Given the description of an element on the screen output the (x, y) to click on. 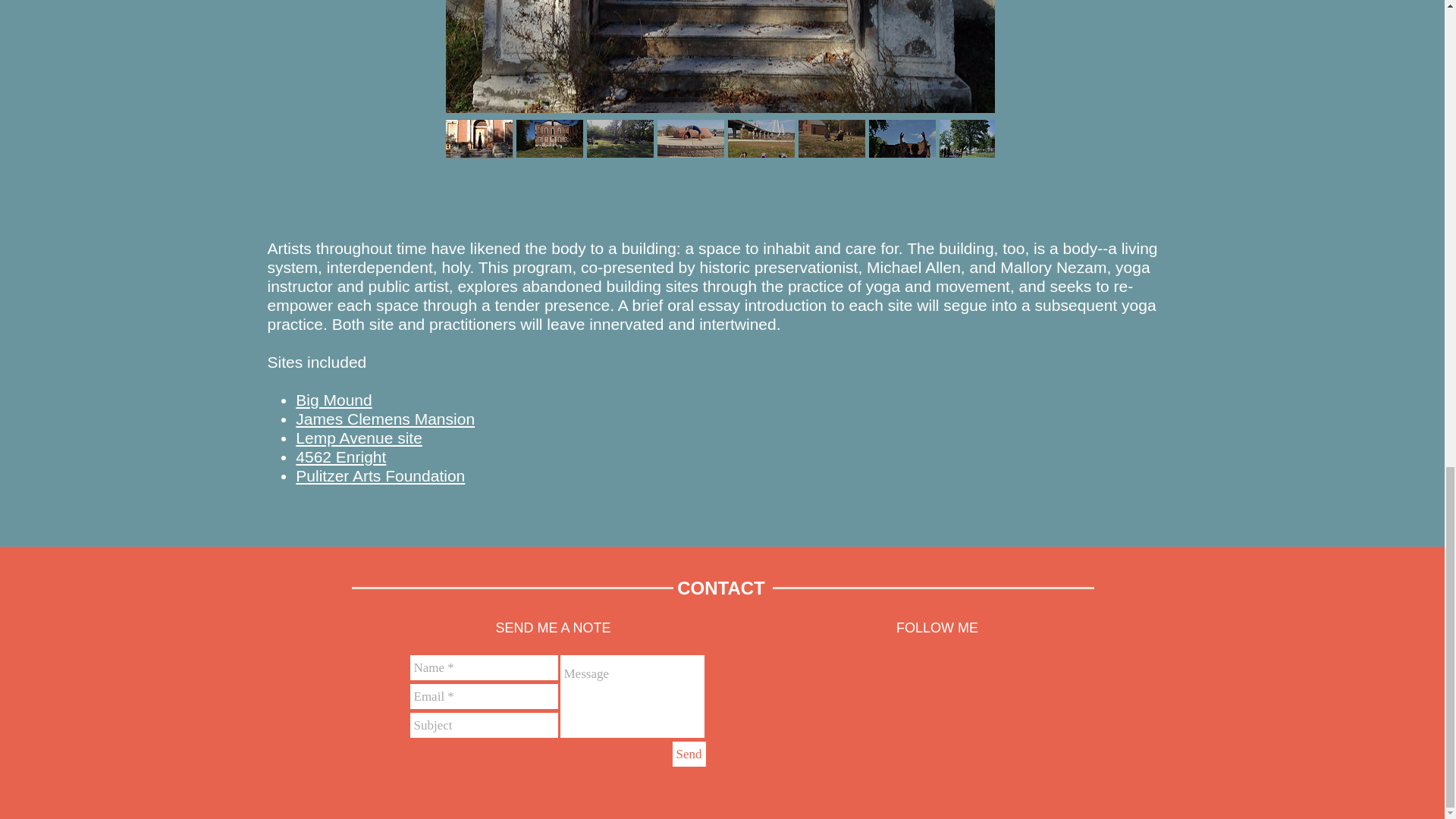
4562 Enright (340, 456)
Pulitzer Arts Foundation (379, 475)
Send (687, 754)
James Clemens Mansion (384, 418)
Lemp Avenue site (358, 437)
Big Mound (333, 399)
